Given the description of an element on the screen output the (x, y) to click on. 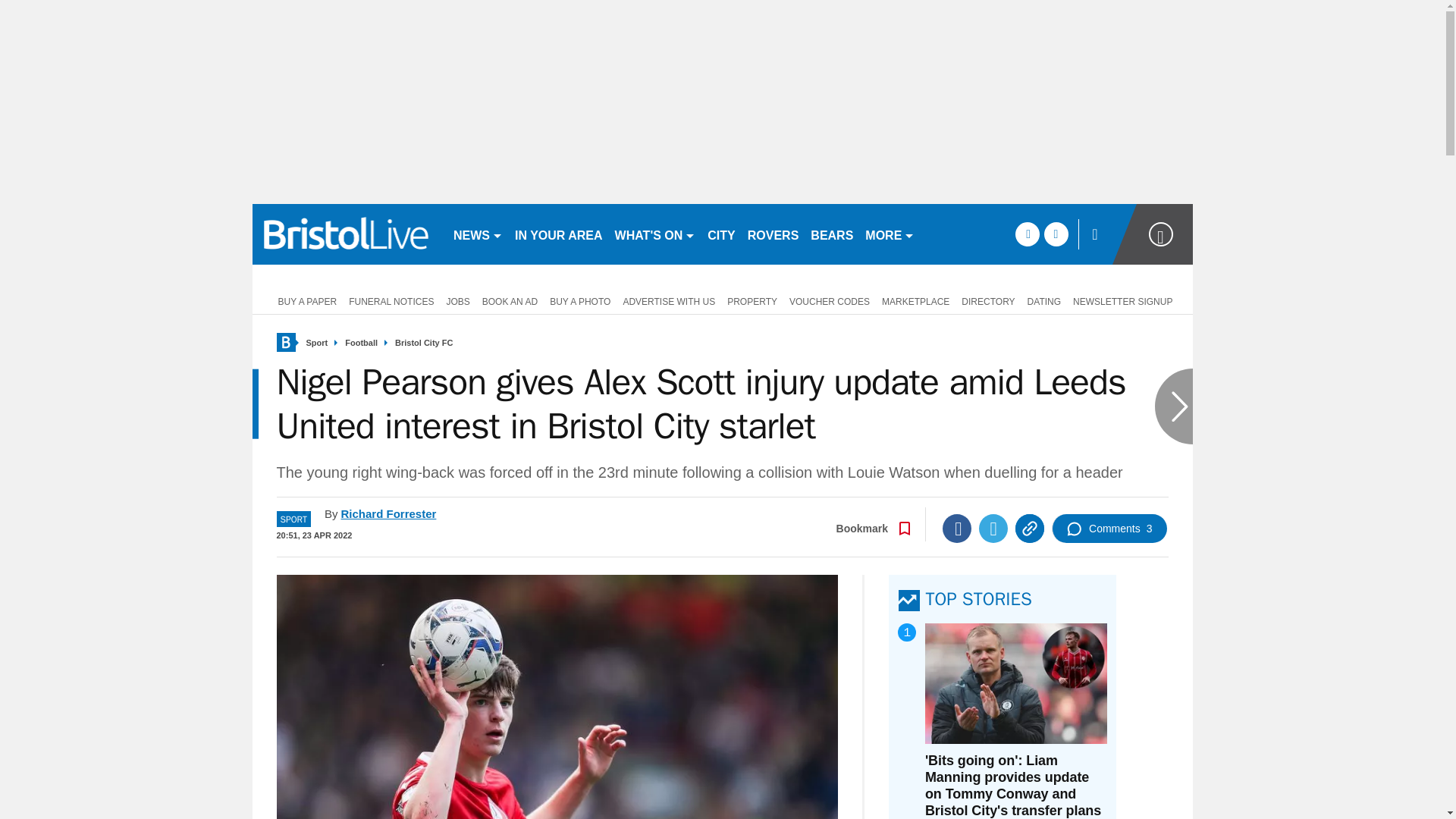
Comments (1108, 528)
facebook (1026, 233)
bristolpost (345, 233)
MORE (889, 233)
WHAT'S ON (654, 233)
Facebook (956, 528)
BEARS (832, 233)
NEWS (477, 233)
ROVERS (773, 233)
twitter (1055, 233)
Twitter (992, 528)
IN YOUR AREA (558, 233)
